Given the description of an element on the screen output the (x, y) to click on. 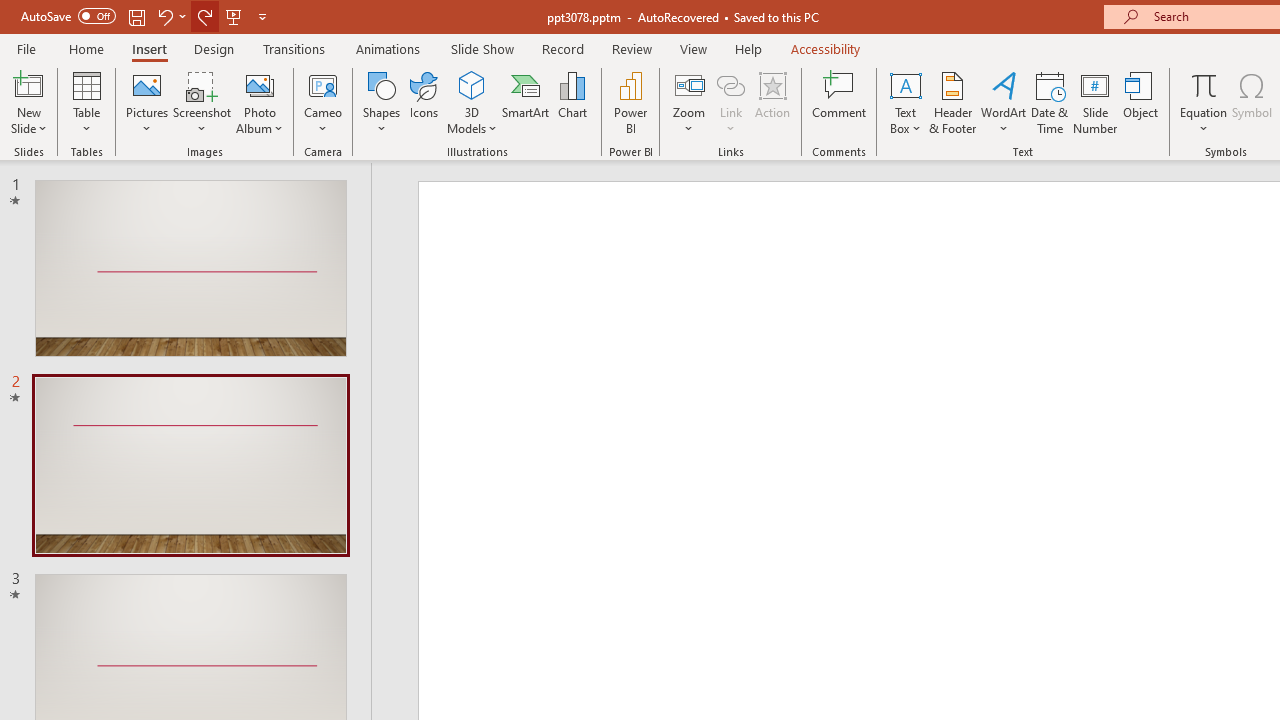
Action (772, 102)
Header & Footer... (952, 102)
New Photo Album... (259, 84)
Power BI (630, 102)
